Given the description of an element on the screen output the (x, y) to click on. 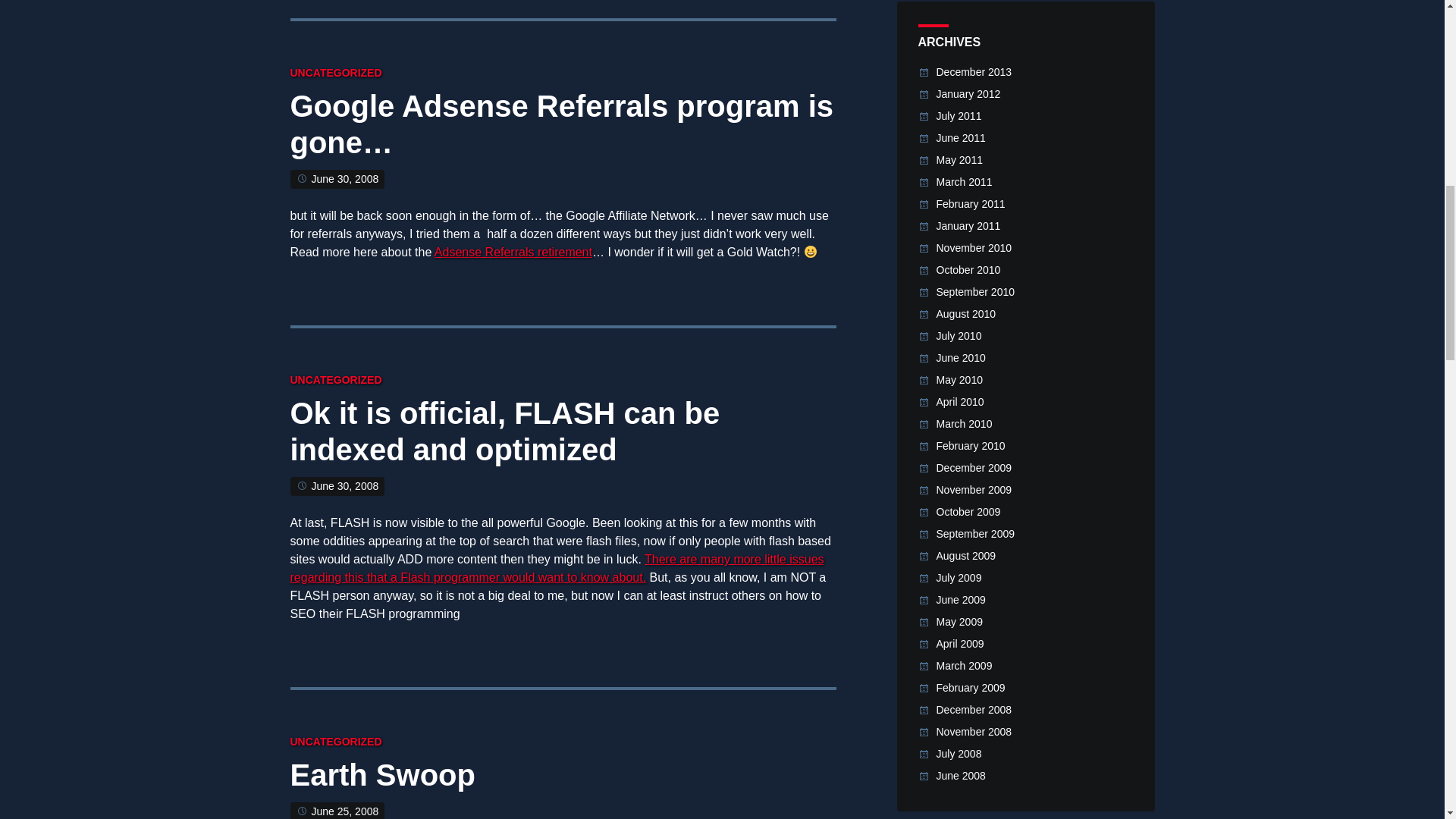
UNCATEGORIZED (335, 741)
Adsense Referrals retirement (512, 251)
June 25, 2008 (344, 811)
UNCATEGORIZED (335, 379)
June 30, 2008 (344, 178)
Ok it is official, FLASH can be indexed and optimized (504, 435)
Earth Swoop (381, 779)
UNCATEGORIZED (335, 72)
June 30, 2008 (344, 485)
